Given the description of an element on the screen output the (x, y) to click on. 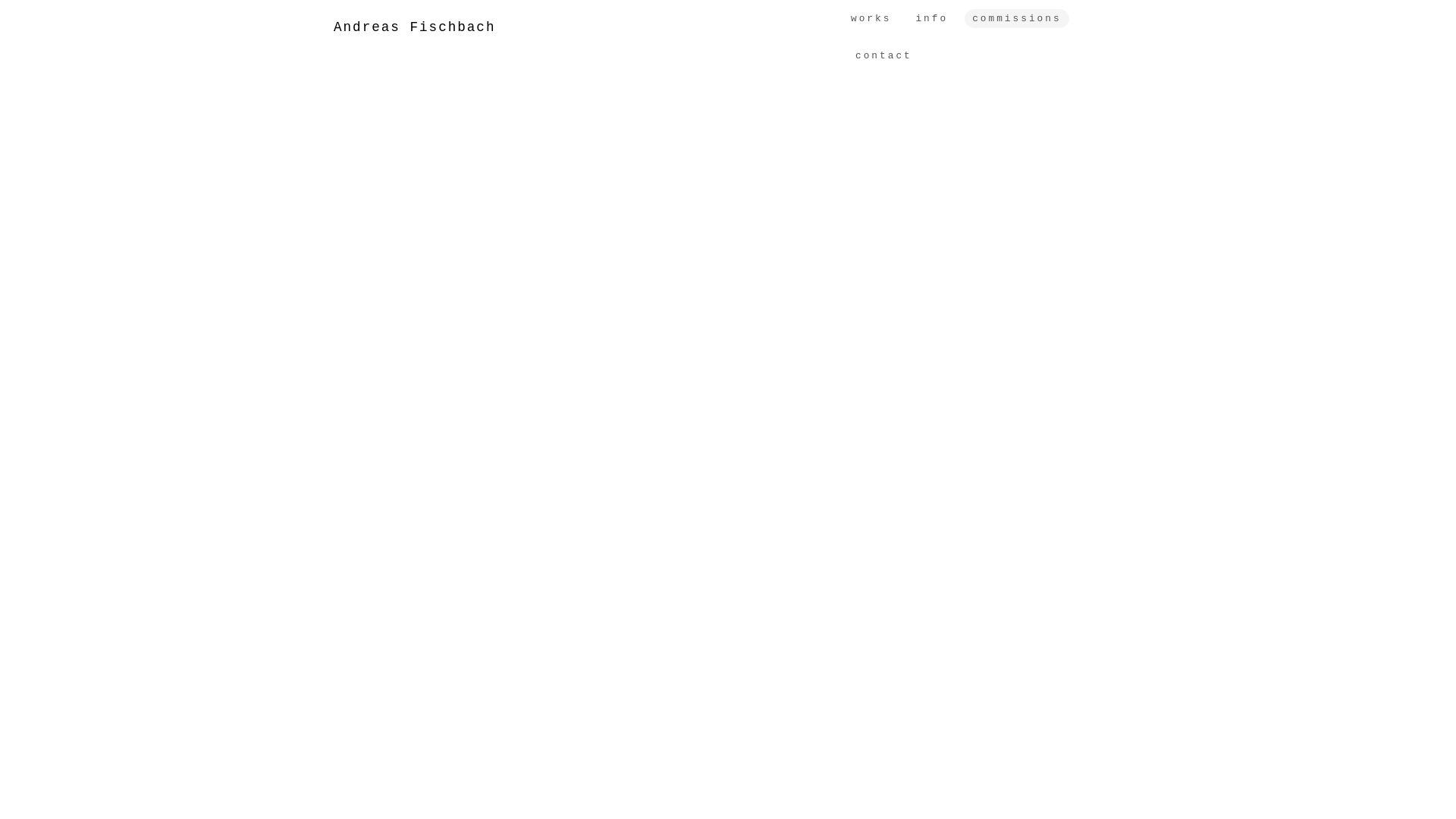
info Element type: text (931, 18)
commissions Element type: text (1016, 18)
contact Element type: text (883, 55)
works Element type: text (870, 18)
Andreas Fischbach Element type: text (414, 26)
